Given the description of an element on the screen output the (x, y) to click on. 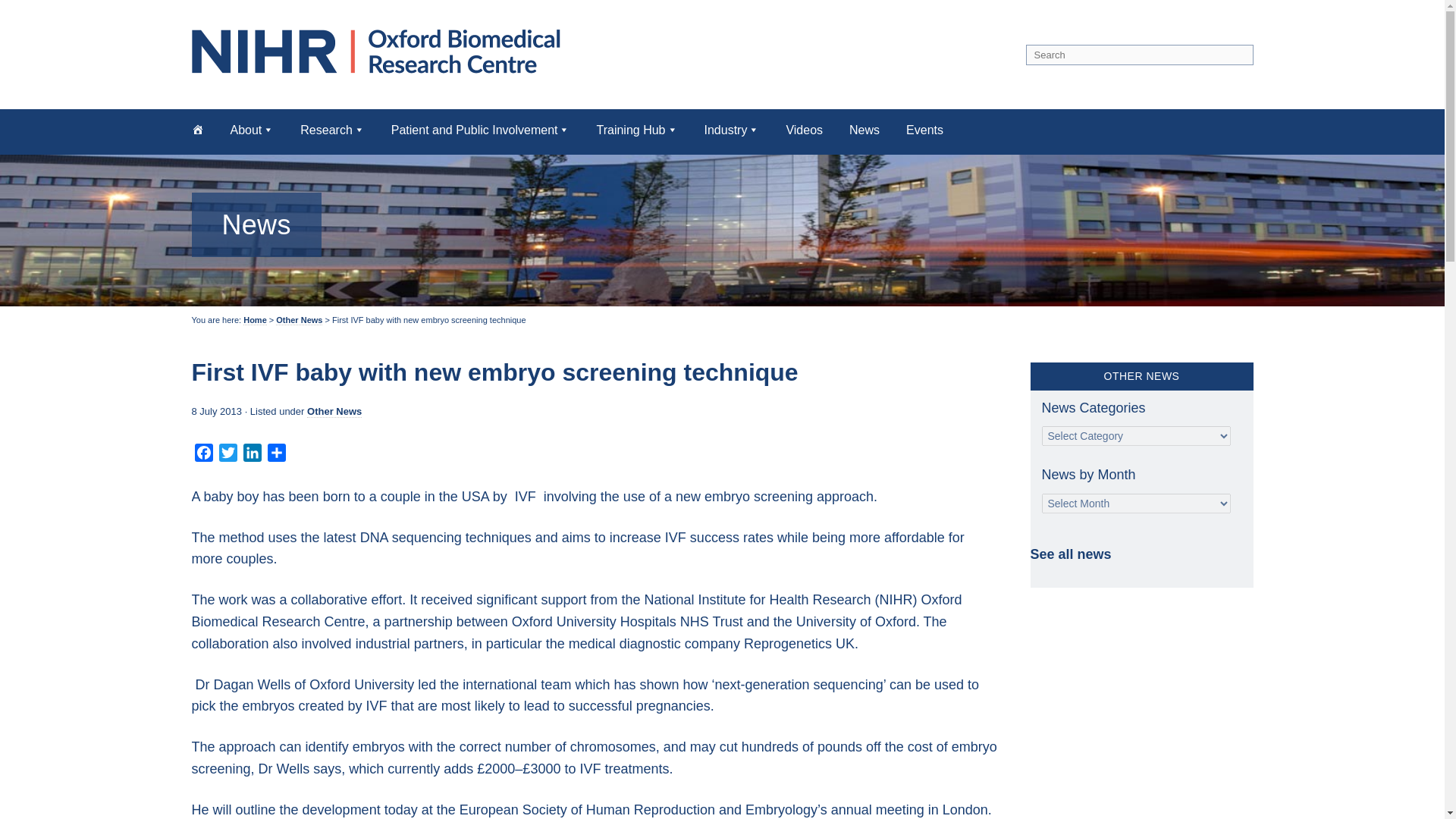
Research (331, 129)
Training Hub (636, 129)
LinkedIn (251, 454)
About (252, 129)
NIHR Oxford Biomedical Research Centre (380, 50)
Patient and Public Involvement (480, 129)
Twitter (227, 454)
Facebook (202, 454)
